Given the description of an element on the screen output the (x, y) to click on. 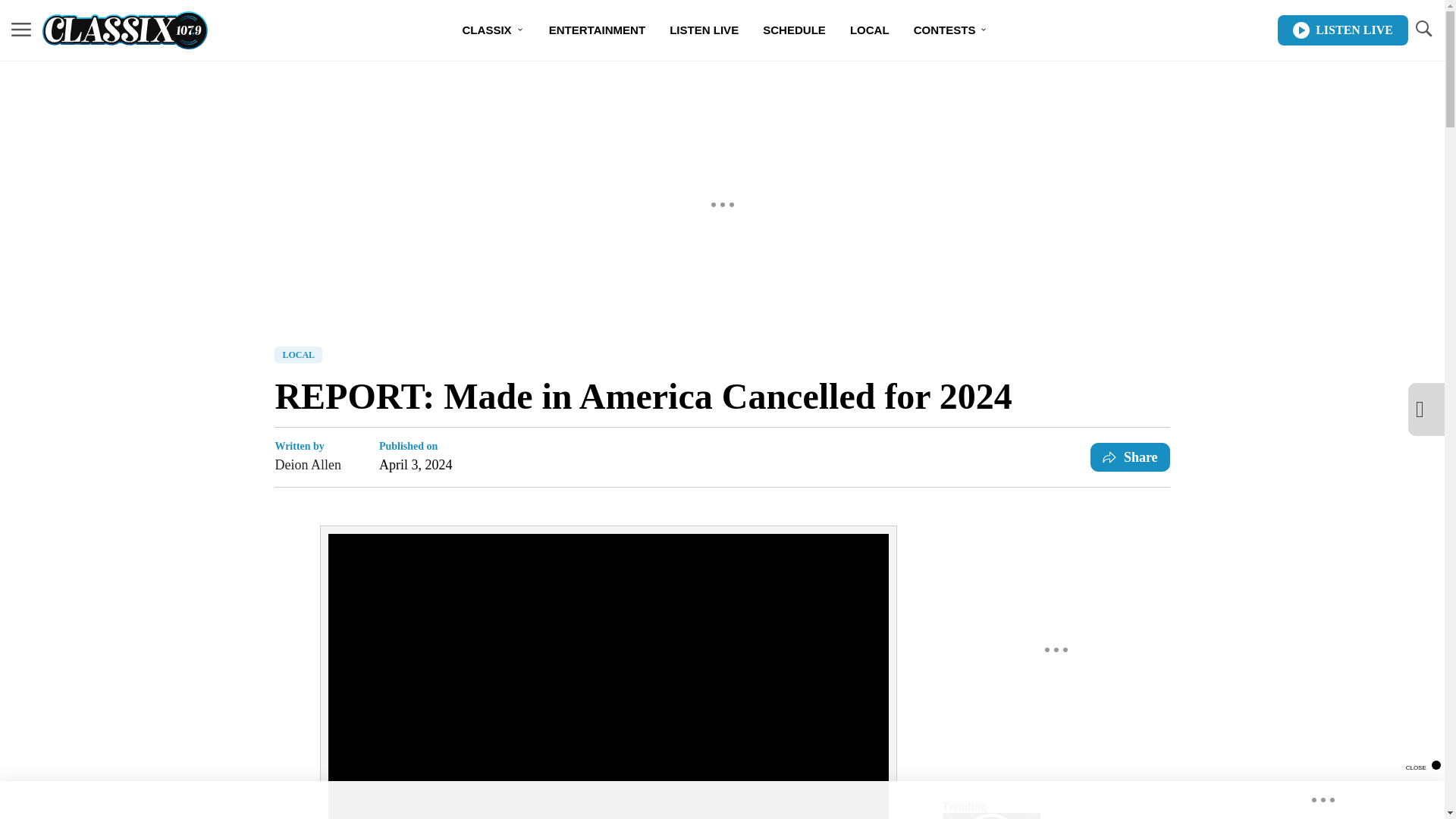
Deion Allen (307, 464)
41 ITEMS (991, 816)
LISTEN LIVE (704, 30)
Share (1130, 457)
MENU (20, 30)
MENU (20, 29)
ENTERTAINMENT (597, 30)
Media Playlist (990, 816)
LISTEN LIVE (1342, 30)
TOGGLE SEARCH (1422, 30)
